Given the description of an element on the screen output the (x, y) to click on. 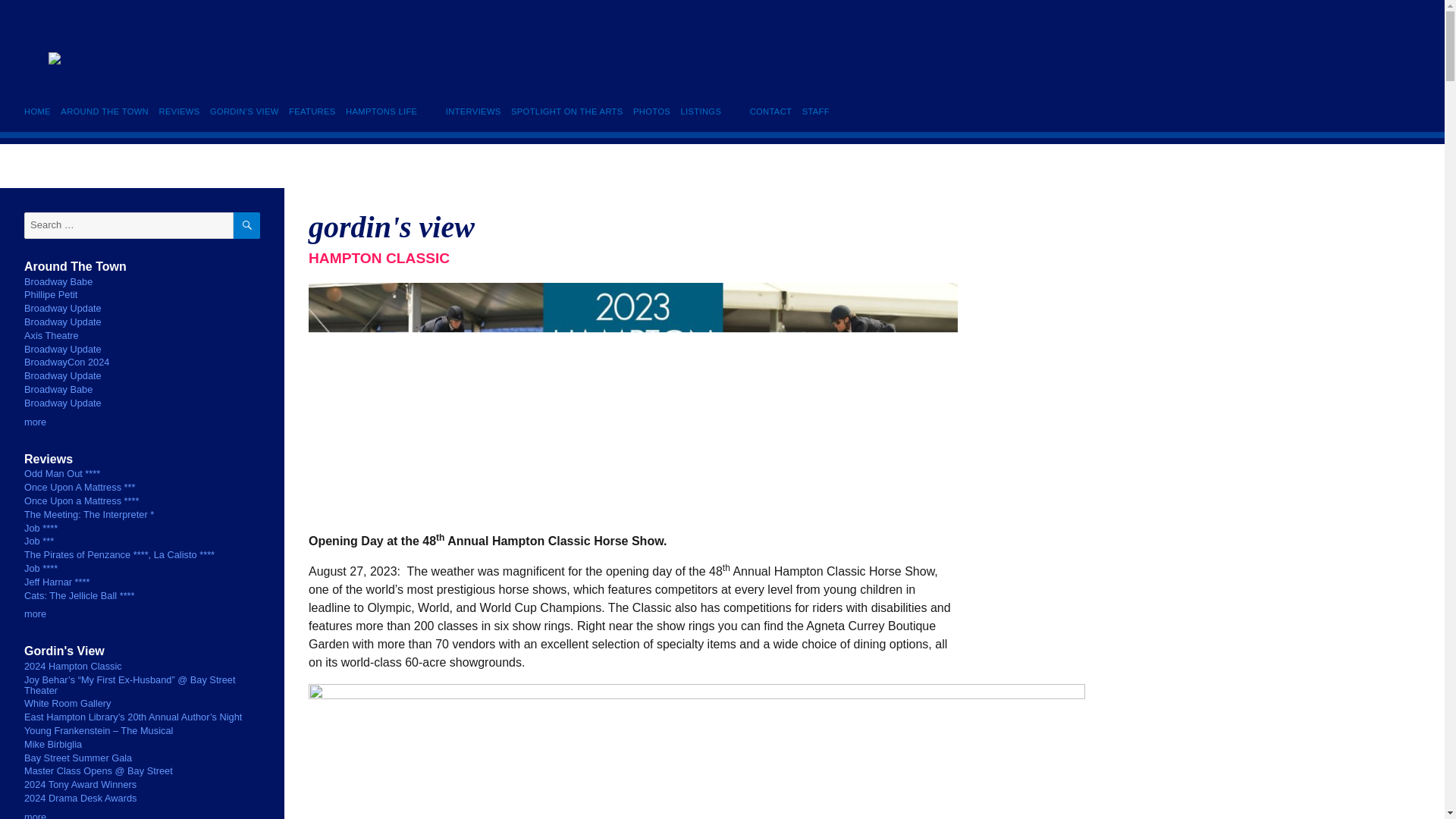
PHOTOS (651, 111)
INTERVIEWS (473, 111)
CONTACT (770, 111)
REVIEWS (179, 111)
LISTINGS (700, 111)
HOME (40, 111)
SPOTLIGHT ON THE ARTS (566, 111)
FEATURES (311, 111)
HAMPTONS LIFE (381, 111)
STAFF (815, 111)
